Given the description of an element on the screen output the (x, y) to click on. 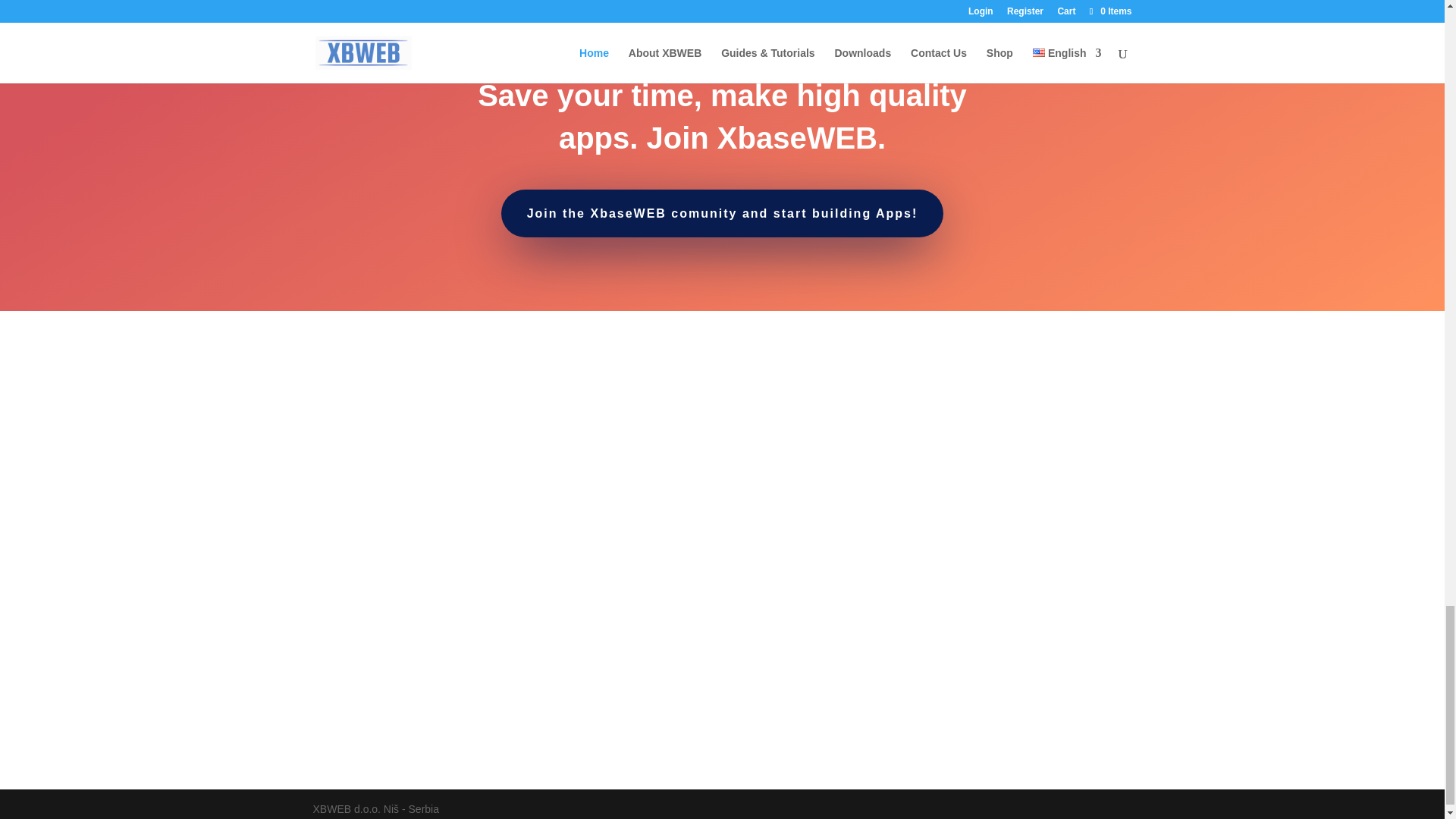
Join the XbaseWEB comunity and start building Apps! (721, 213)
